Given the description of an element on the screen output the (x, y) to click on. 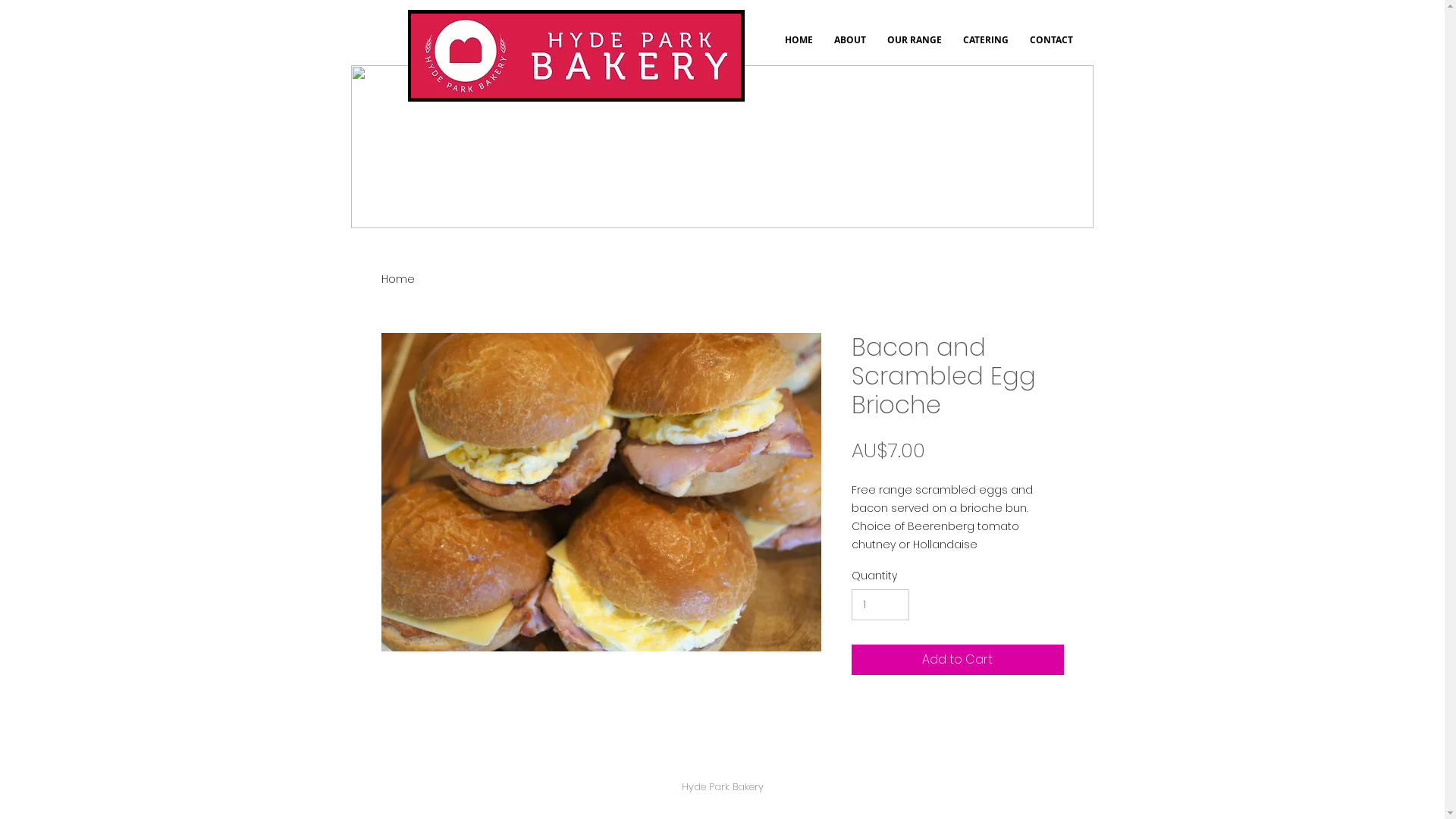
Add to Cart Element type: text (956, 659)
ABOUT Element type: text (849, 47)
CATERING Element type: text (985, 47)
OUR RANGE Element type: text (914, 47)
HPB-Counter.jpg Element type: hover (721, 146)
Home Element type: text (397, 278)
CONTACT Element type: text (1051, 47)
HOME Element type: text (797, 47)
